Given the description of an element on the screen output the (x, y) to click on. 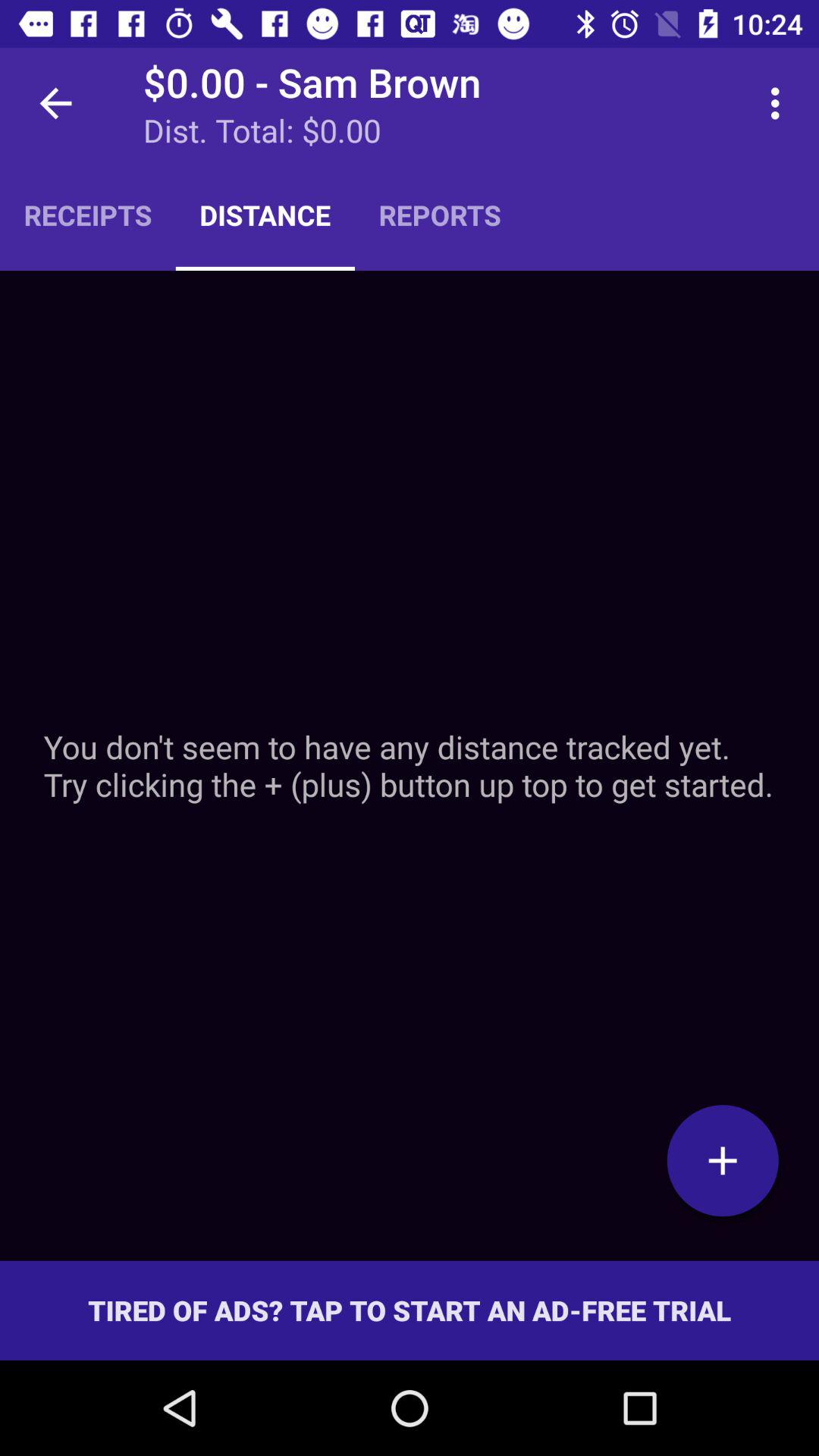
select the item to the left of 0 00 sam icon (55, 103)
